Given the description of an element on the screen output the (x, y) to click on. 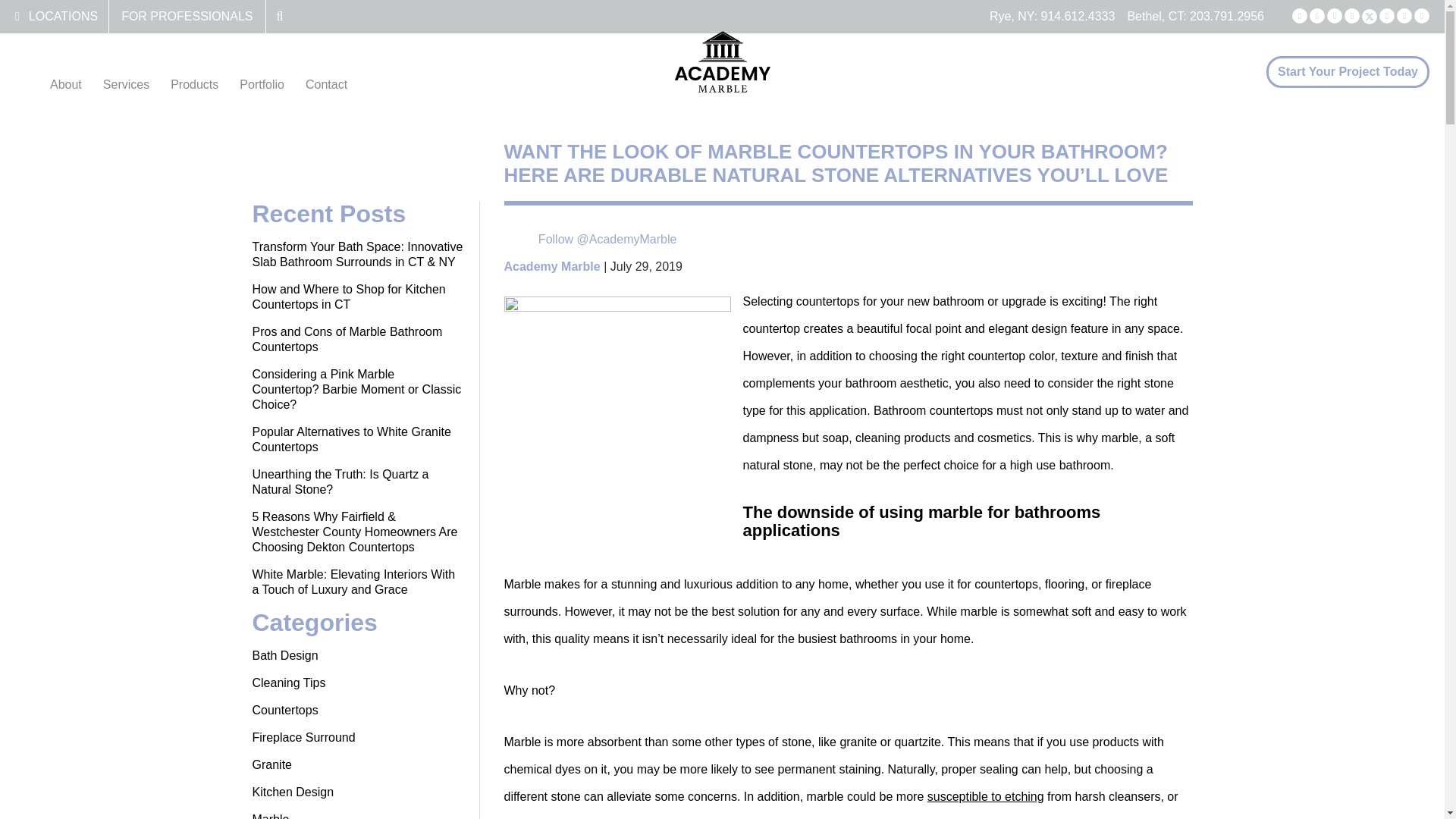
FOR PROFESSIONALS (185, 15)
914.612.4333 (1078, 15)
203.791.2956 (1226, 15)
LOCATIONS (63, 15)
